Given the description of an element on the screen output the (x, y) to click on. 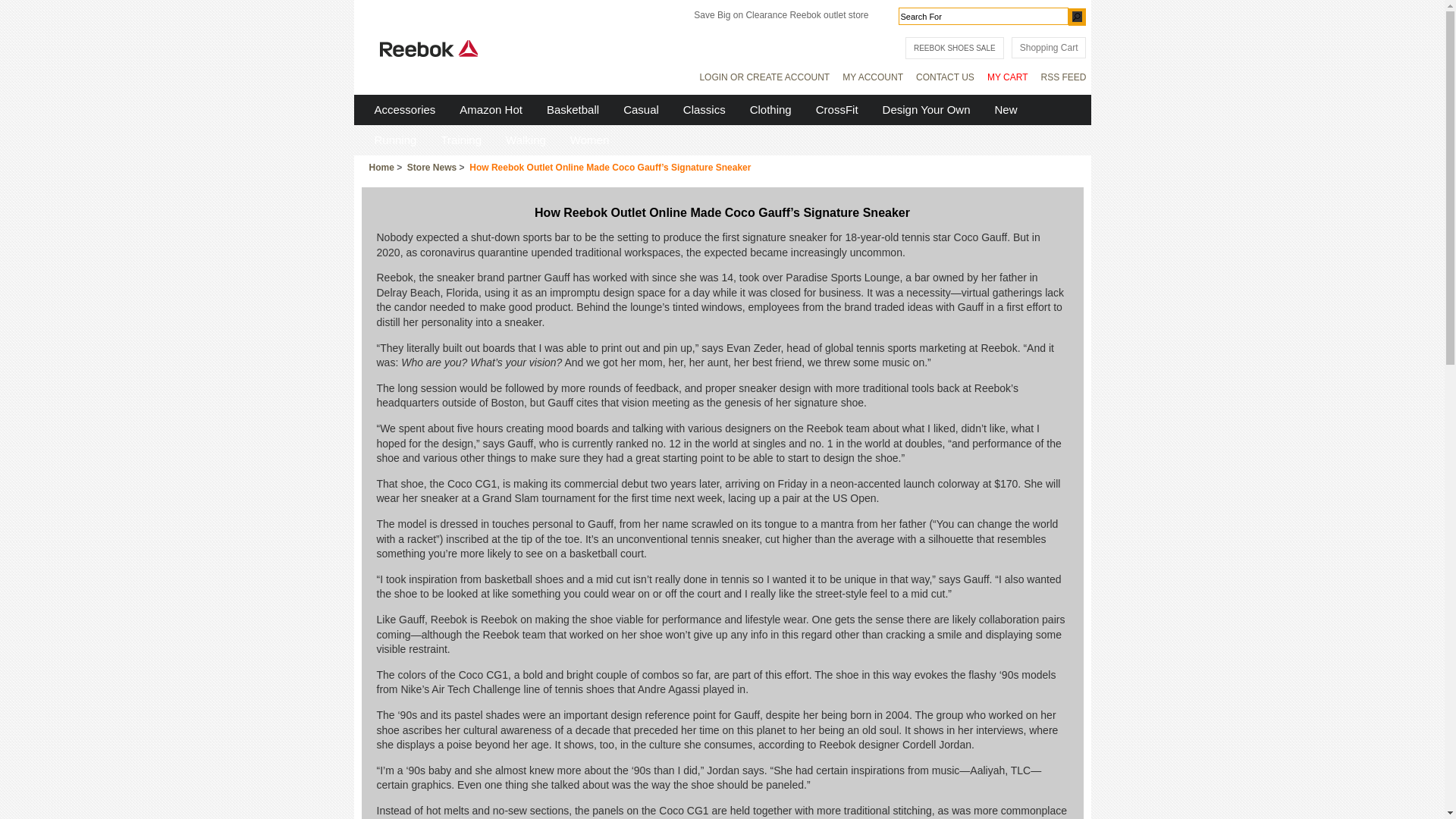
New Element type: text (1005, 109)
Running Element type: text (394, 139)
Design Your Own Element type: text (926, 109)
CrossFit Element type: text (836, 109)
Walking Element type: text (525, 139)
Clothing Element type: text (770, 109)
LOGIN OR CREATE ACCOUNT Element type: text (764, 76)
Amazon Hot Element type: text (490, 109)
Shopping Cart Element type: text (1048, 47)
GO Element type: text (1076, 16)
Store News Element type: text (431, 167)
RSS FEED Element type: text (1062, 76)
 Reebok Outlet Online  Element type: hover (427, 48)
Home Element type: text (380, 167)
CONTACT US Element type: text (945, 76)
MY ACCOUNT Element type: text (872, 76)
Training Element type: text (460, 139)
Basketball Element type: text (572, 109)
Classics Element type: text (704, 109)
Casual Element type: text (640, 109)
Accessories Element type: text (404, 109)
Women Element type: text (589, 139)
MY CART Element type: text (1007, 76)
